Given the description of an element on the screen output the (x, y) to click on. 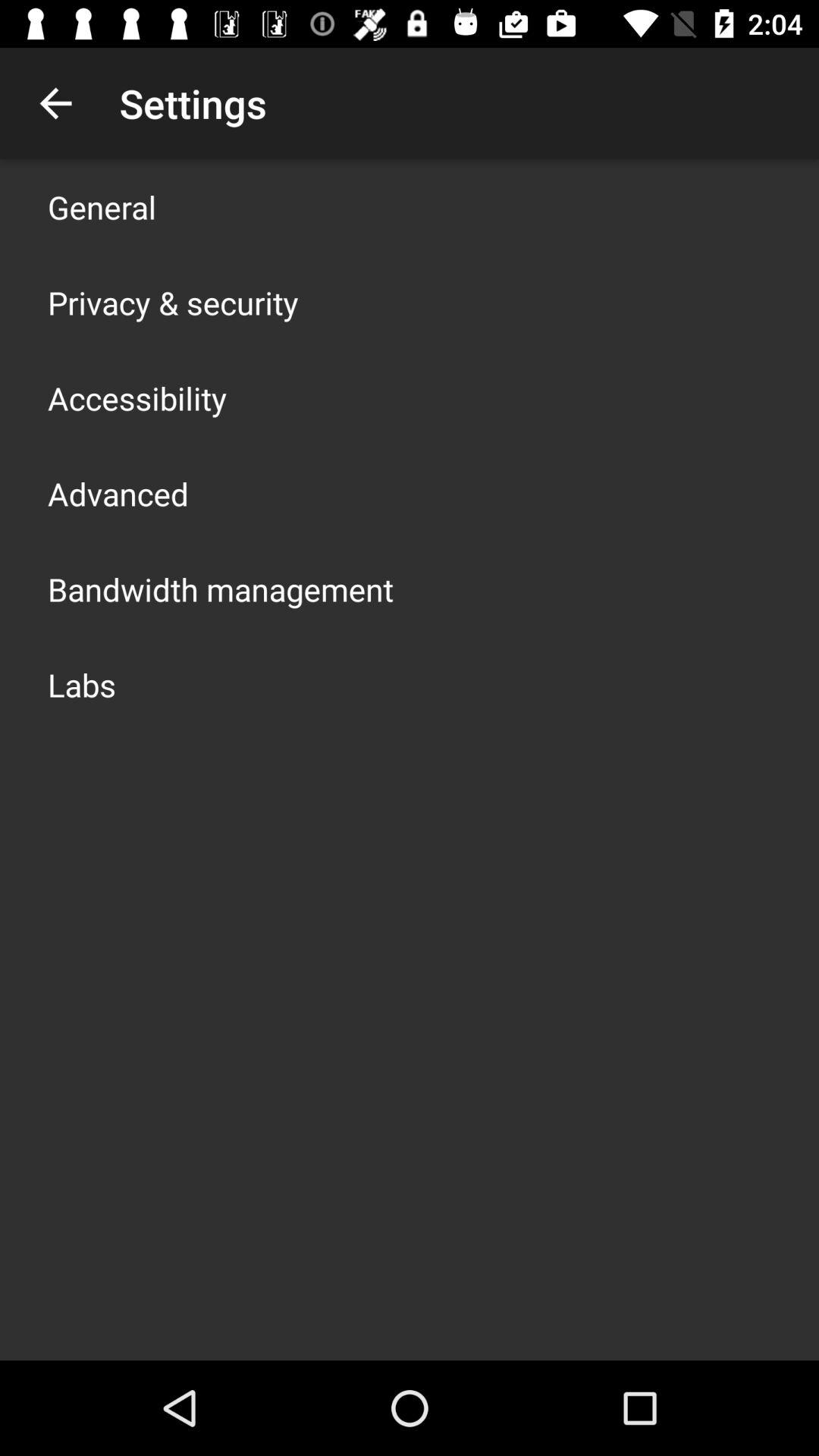
turn off the general (101, 206)
